Given the description of an element on the screen output the (x, y) to click on. 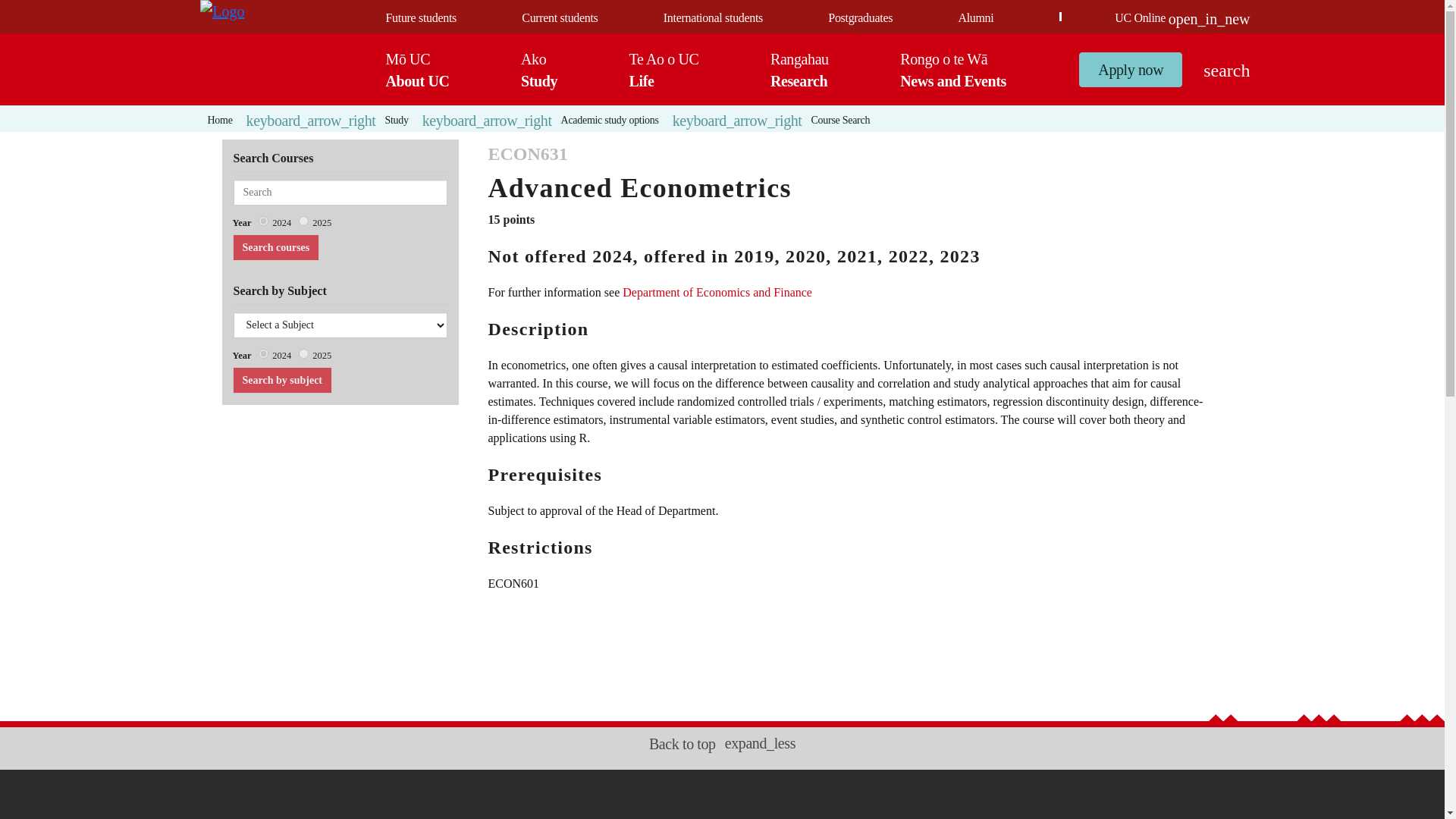
2024 (263, 221)
Alumni (975, 17)
Search courses (274, 247)
Future students (420, 17)
2025 (303, 221)
Search courses (274, 247)
Postgraduates (860, 17)
2025 (303, 353)
Current students (558, 17)
Search by subject (281, 379)
